Given the description of an element on the screen output the (x, y) to click on. 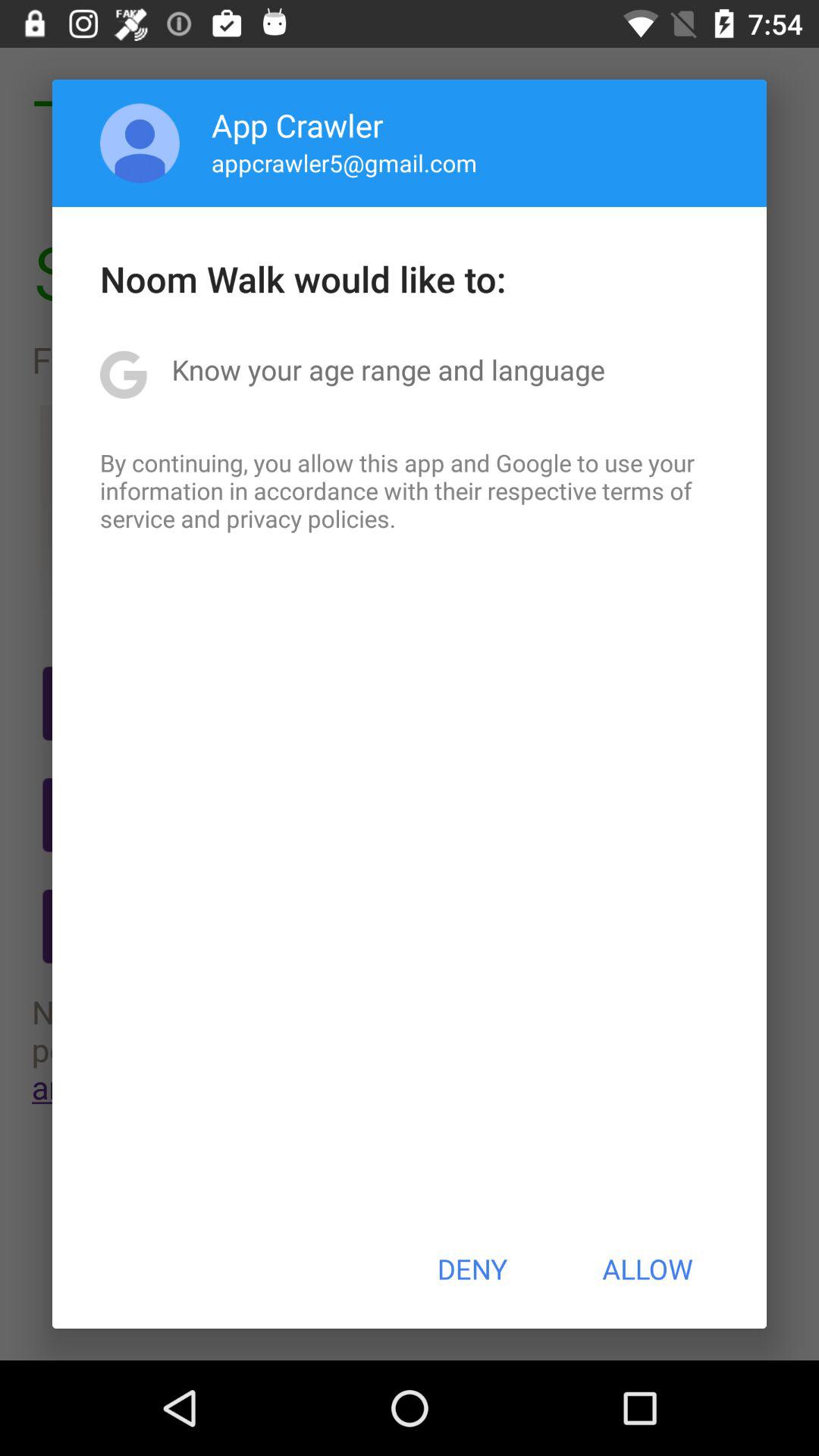
scroll until the know your age icon (388, 369)
